Given the description of an element on the screen output the (x, y) to click on. 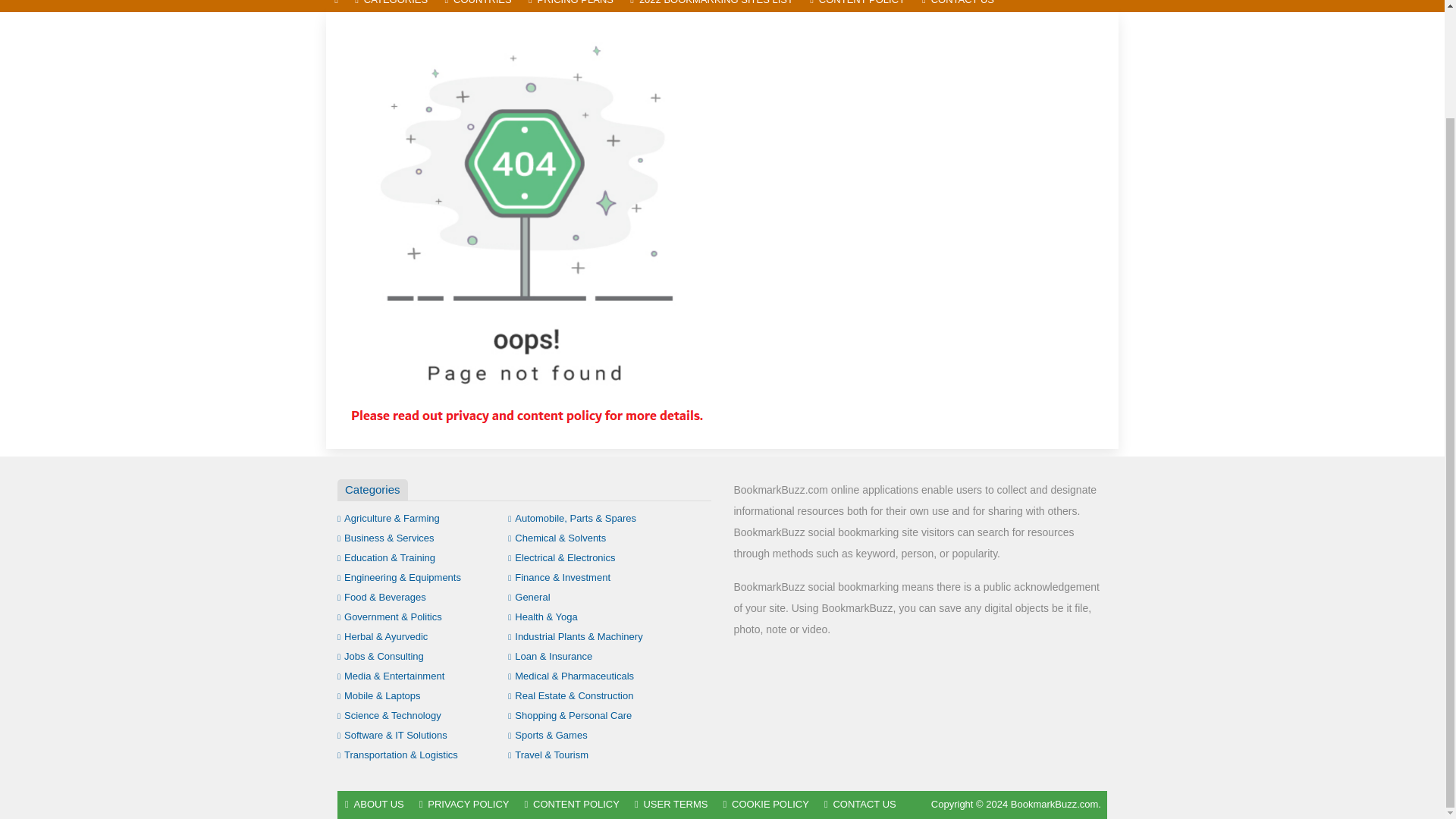
HOME (336, 6)
2022 BOOKMARKING SITES LIST (711, 6)
General (529, 596)
PRICING PLANS (570, 6)
CATEGORIES (390, 6)
COUNTRIES (477, 6)
CONTENT POLICY (858, 6)
CONTACT US (958, 6)
